Given the description of an element on the screen output the (x, y) to click on. 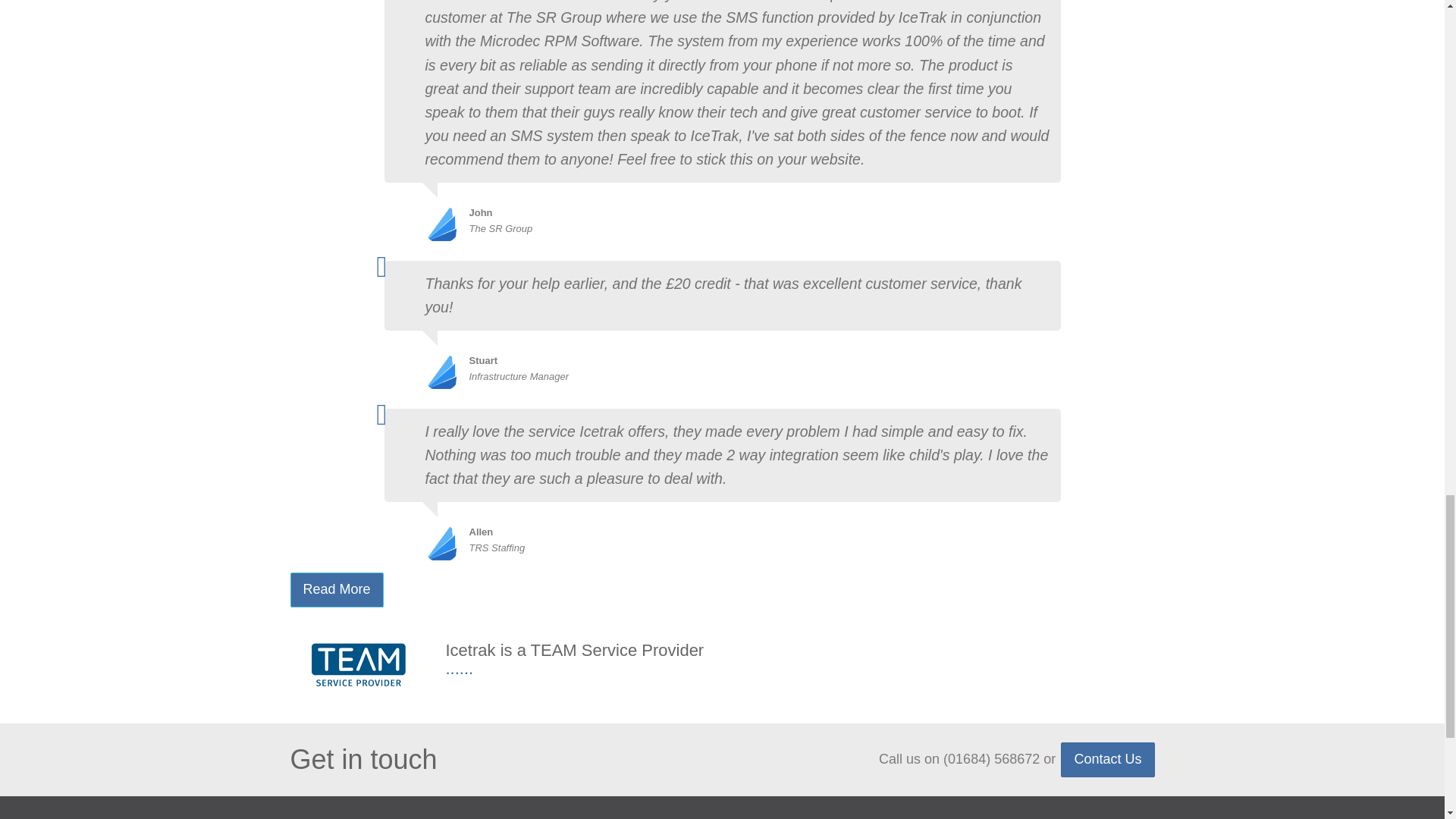
Read More (335, 589)
Contact Us (1107, 759)
